Given the description of an element on the screen output the (x, y) to click on. 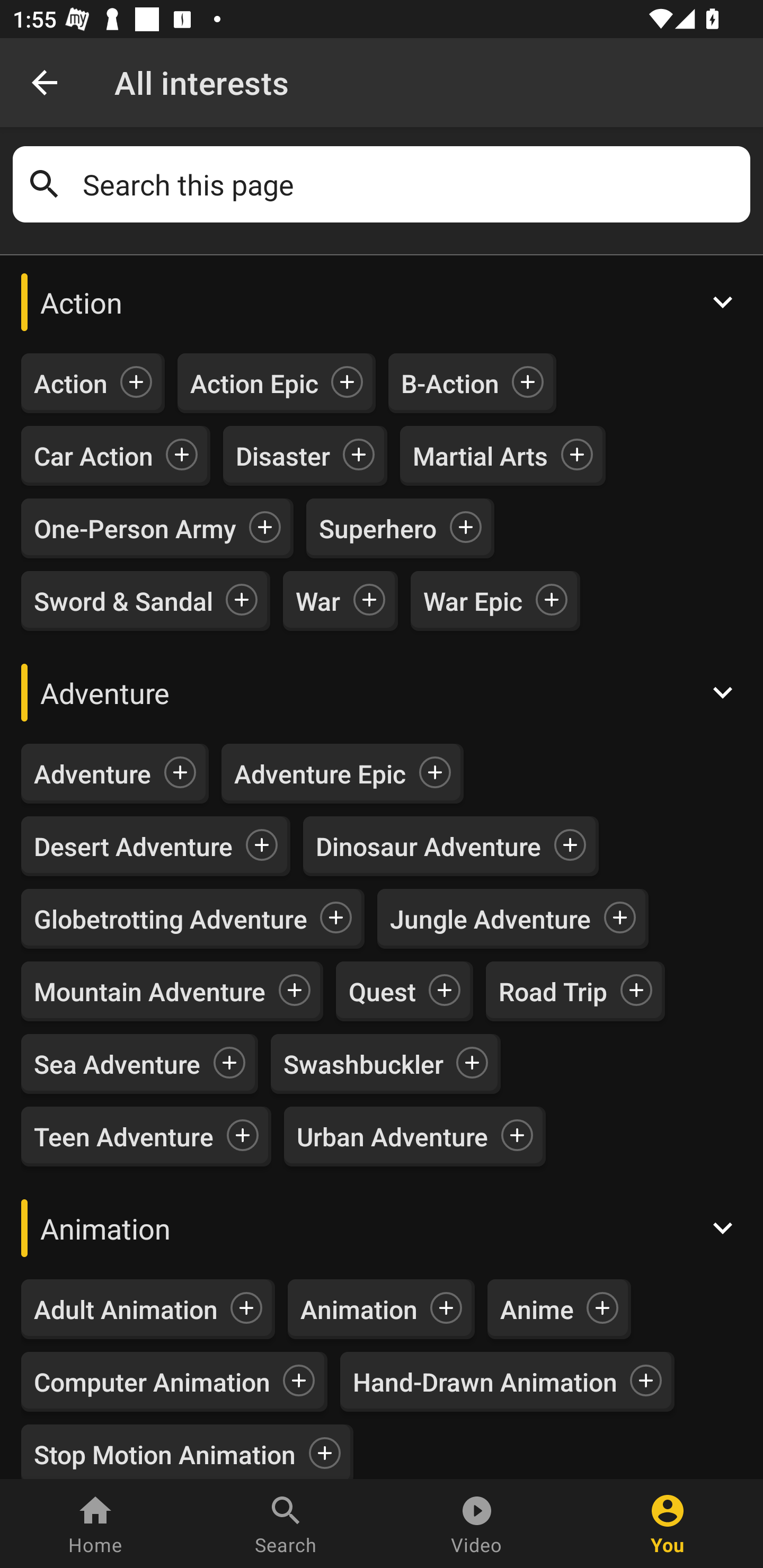
Search this page (410, 184)
Action (381, 301)
Action (70, 382)
Action Epic (254, 382)
B-Action (449, 382)
Car Action (93, 456)
Disaster (282, 456)
Martial Arts (479, 456)
One-Person Army (134, 528)
Superhero (377, 528)
Sword & Sandal (123, 600)
War (318, 600)
War Epic (472, 600)
Adventure (381, 692)
Adventure (92, 772)
Adventure Epic (319, 772)
Desert Adventure (133, 846)
Dinosaur Adventure (427, 846)
Globetrotting Adventure (170, 918)
Jungle Adventure (490, 918)
Mountain Adventure (149, 990)
Quest (381, 990)
Road Trip (553, 990)
Sea Adventure (117, 1063)
Swashbuckler (363, 1063)
Teen Adventure (123, 1136)
Urban Adventure (392, 1136)
Animation (381, 1228)
Adult Animation (125, 1309)
Animation (358, 1309)
Anime (536, 1309)
Computer Animation (152, 1381)
Hand-Drawn Animation (485, 1381)
Stop Motion Animation (165, 1450)
Home (95, 1523)
Search (285, 1523)
Video (476, 1523)
